Given the description of an element on the screen output the (x, y) to click on. 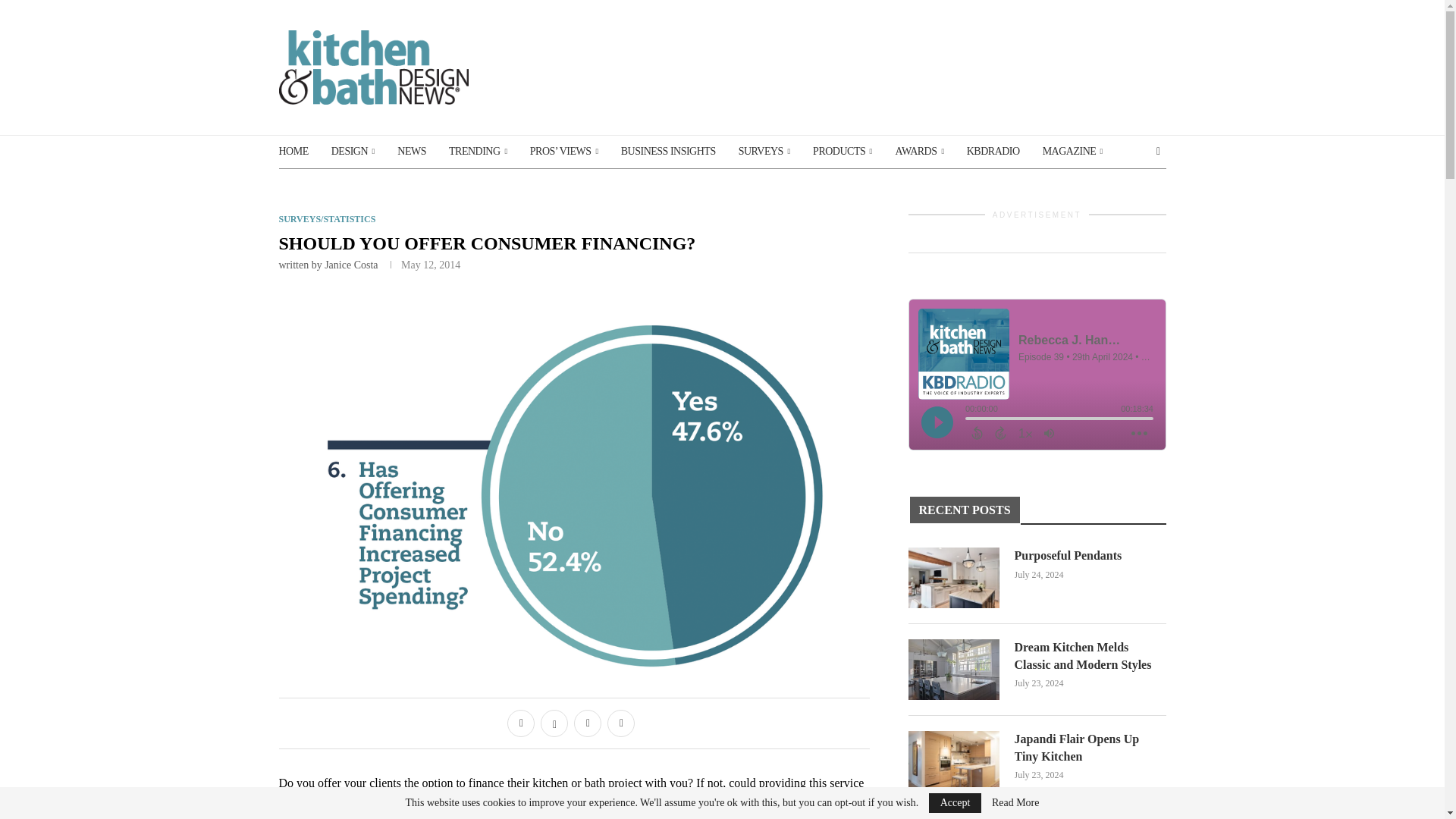
Purposeful Pendants (953, 577)
Dream Kitchen Melds Classic and Modern Styles (953, 669)
DESIGN (353, 151)
Purposeful Pendants (1090, 555)
HOME (293, 151)
AWARDS (919, 151)
SURVEYS (764, 151)
PRODUCTS (842, 151)
BUSINESS INSIGHTS (668, 151)
TRENDING (477, 151)
